Given the description of an element on the screen output the (x, y) to click on. 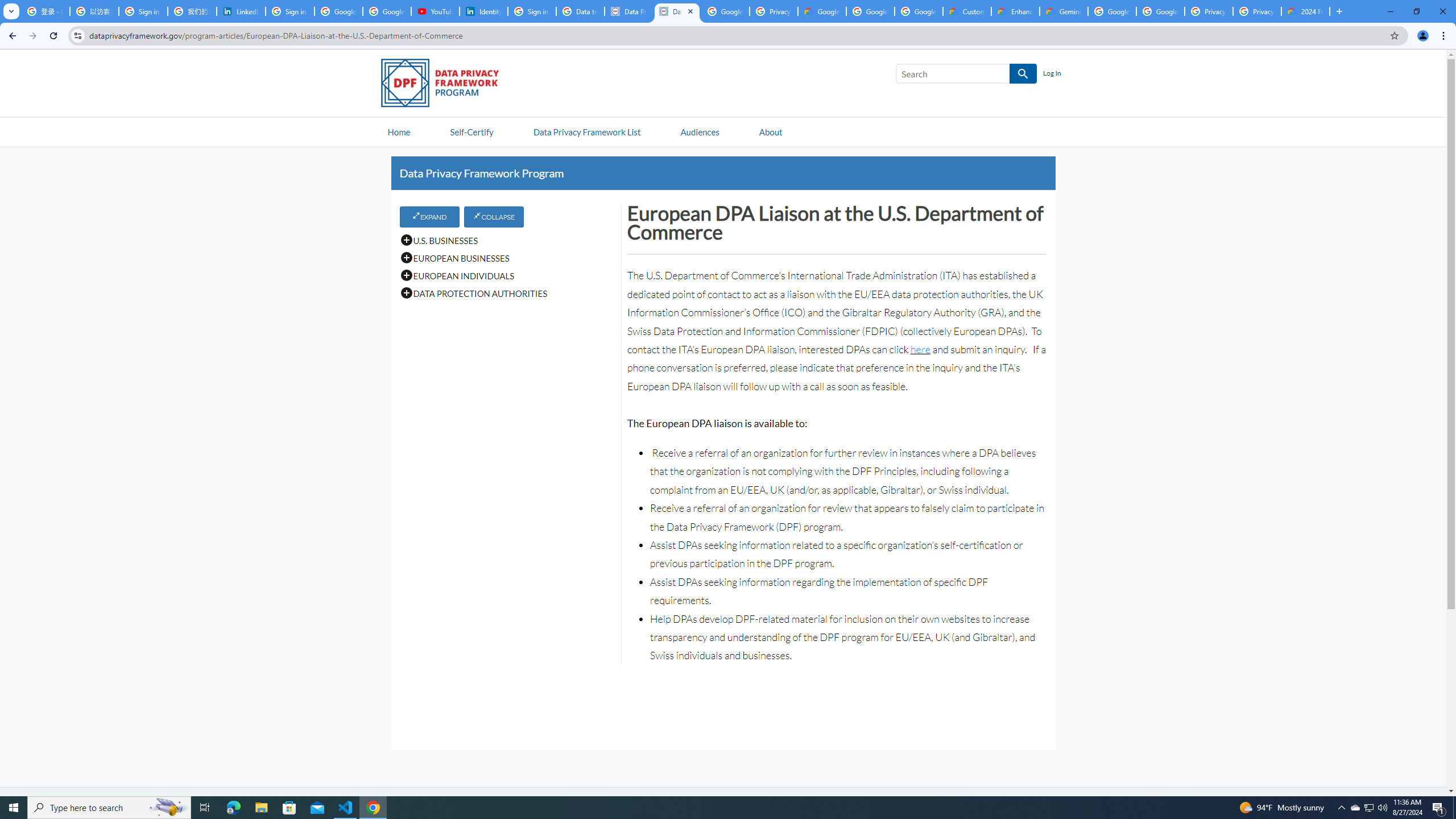
Sign in - Google Accounts (290, 11)
Sign in - Google Accounts (143, 11)
Sign in - Google Accounts (532, 11)
About (769, 131)
Self-Certify (471, 131)
Gemini for Business and Developers | Google Cloud (1064, 11)
Audiences (699, 131)
AutomationID: navitem (699, 131)
EXPAND (429, 216)
